Given the description of an element on the screen output the (x, y) to click on. 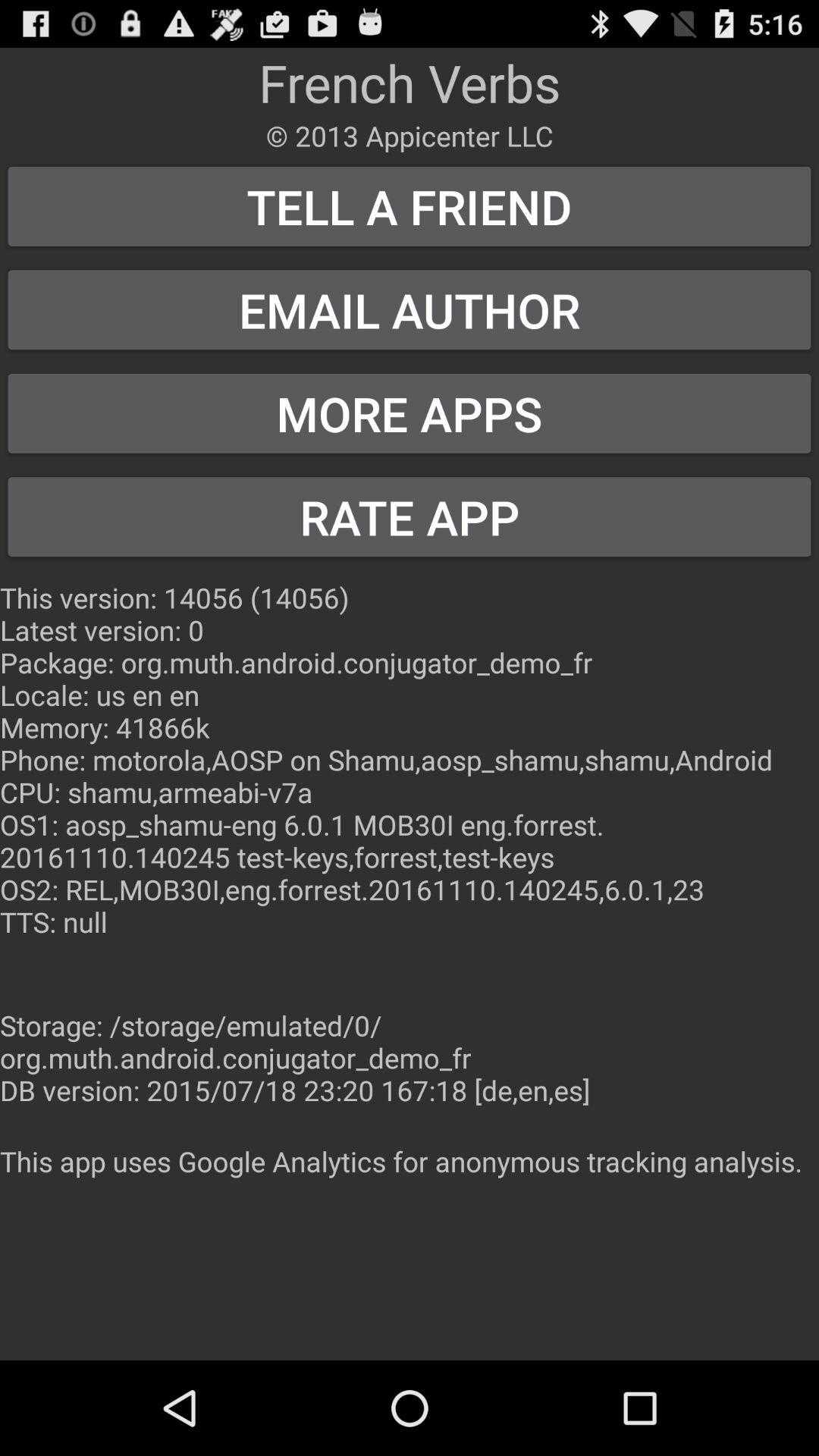
press rate app item (409, 516)
